Given the description of an element on the screen output the (x, y) to click on. 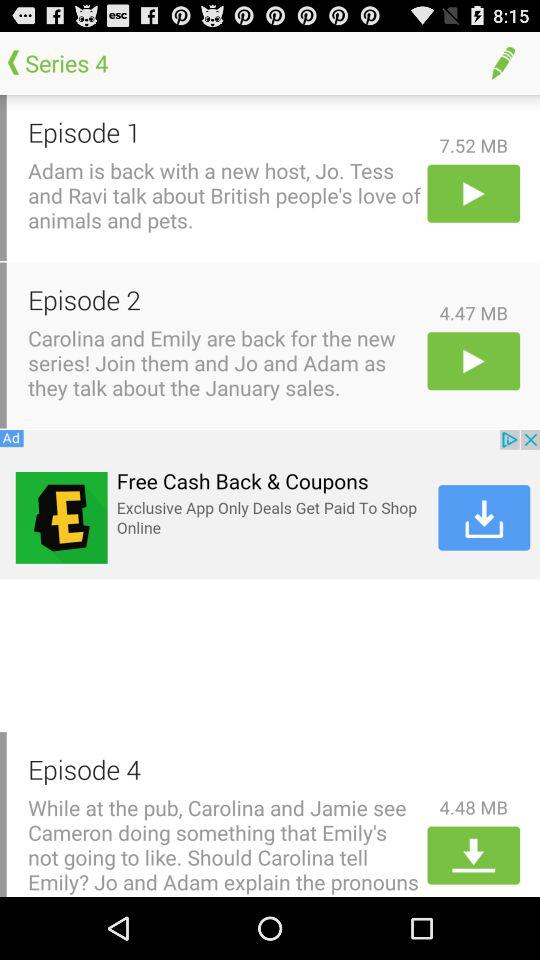
download episode 4 (473, 855)
